Given the description of an element on the screen output the (x, y) to click on. 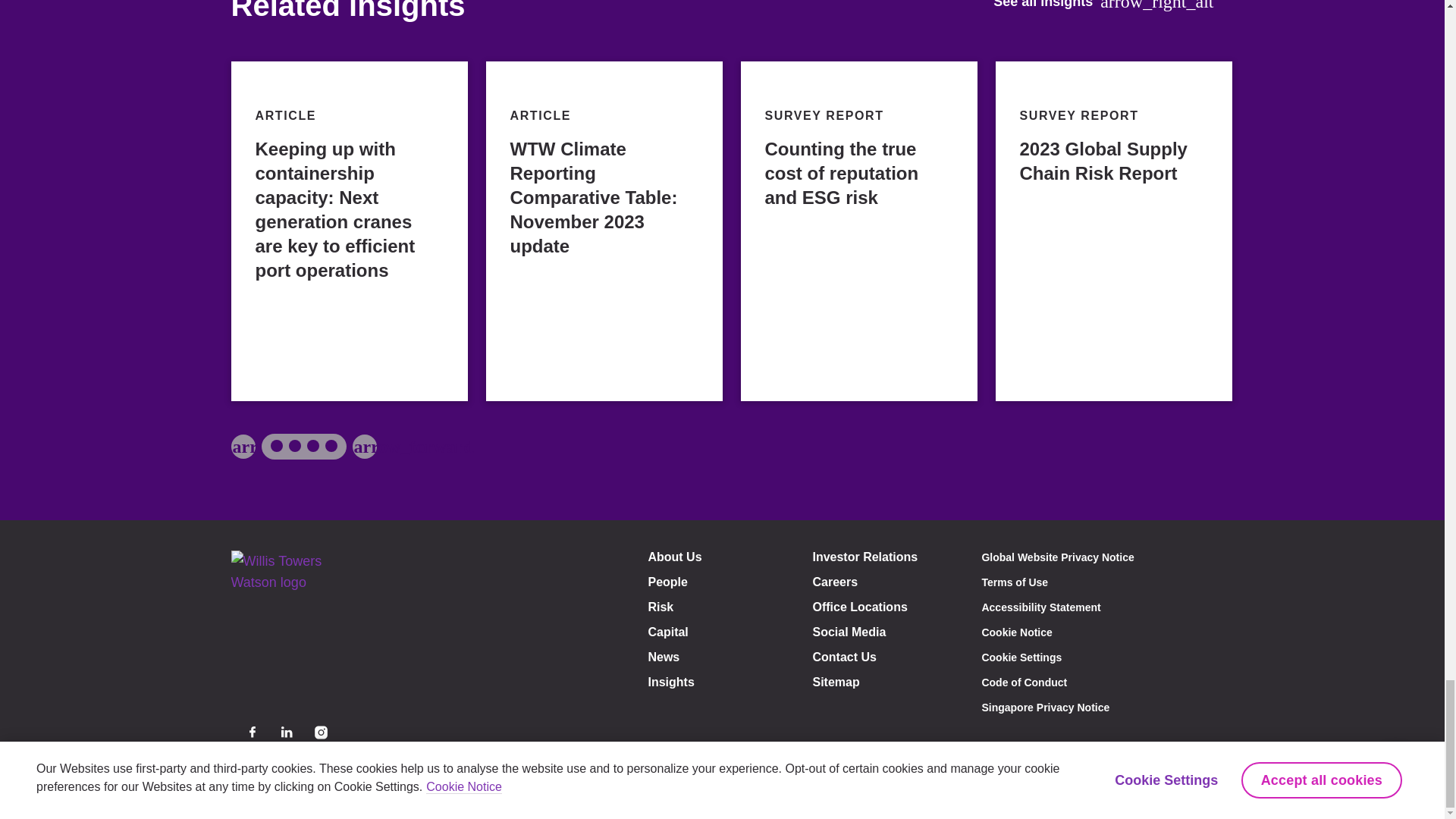
Instagram (320, 732)
Facebook (252, 732)
Linkedin (287, 732)
